Given the description of an element on the screen output the (x, y) to click on. 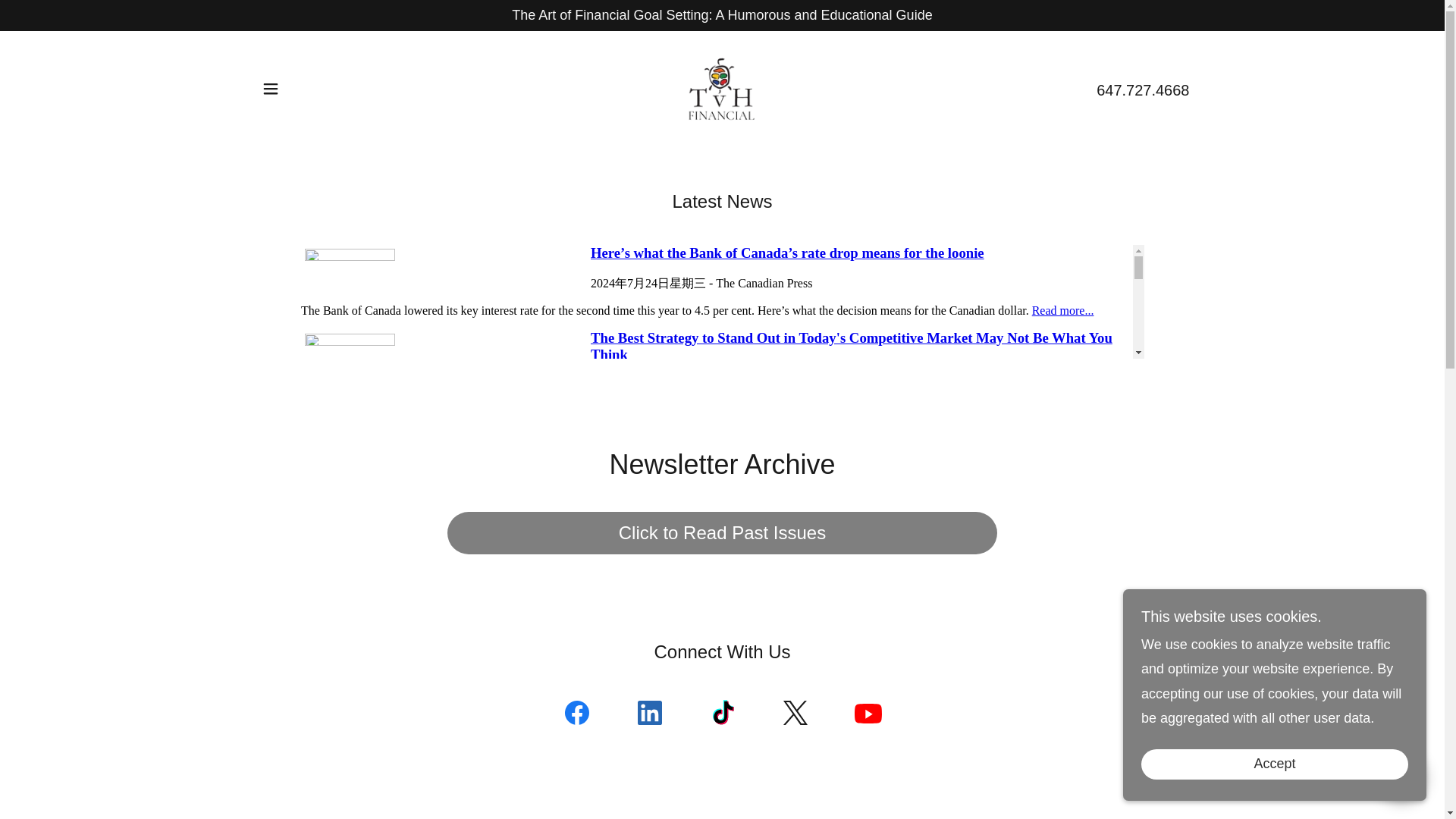
TvH Financial (721, 87)
Accept (1274, 764)
Click to Read Past Issues (721, 532)
647.727.4668 (1142, 89)
